Given the description of an element on the screen output the (x, y) to click on. 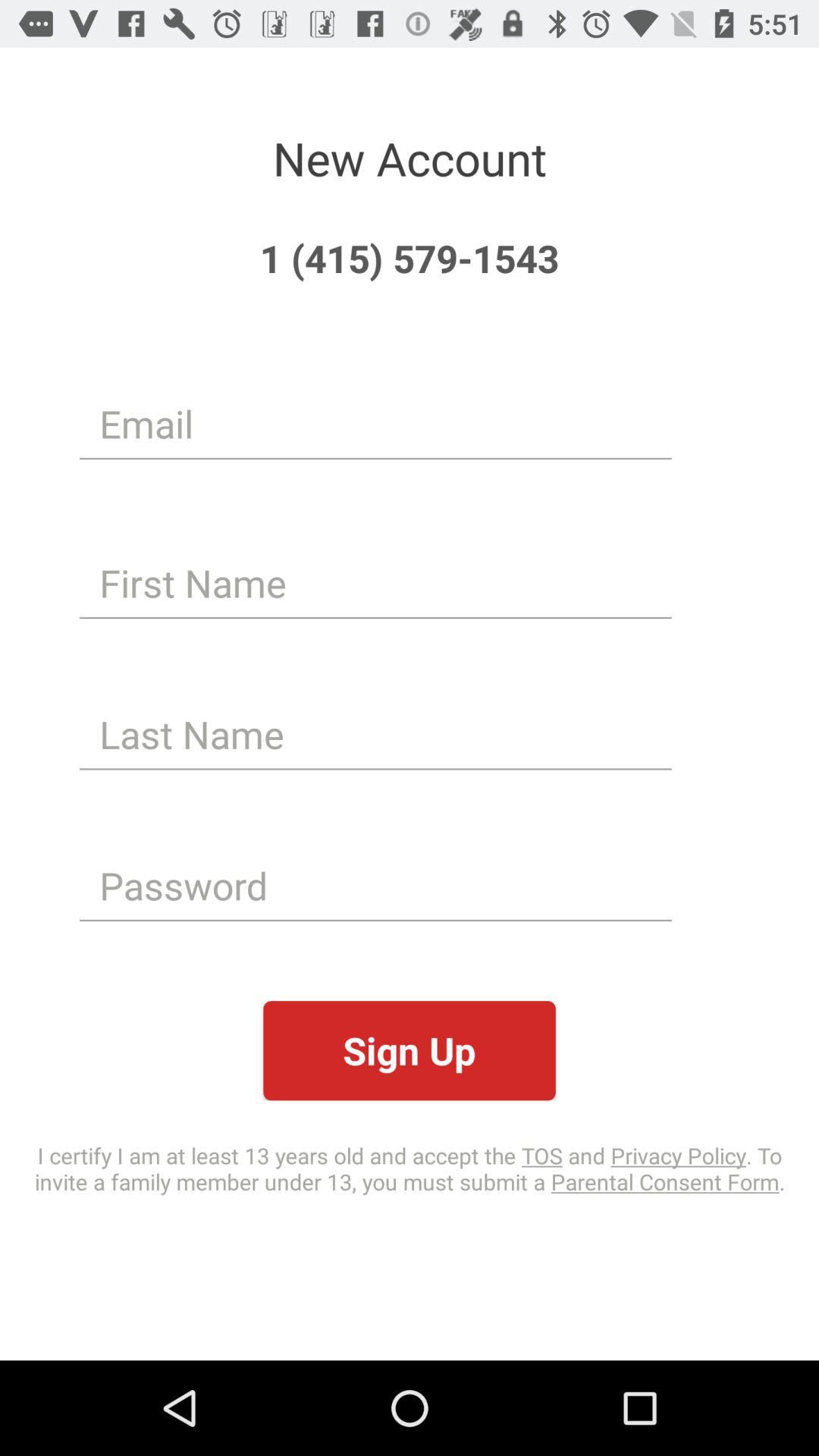
select the item below the sign up (409, 1168)
